Given the description of an element on the screen output the (x, y) to click on. 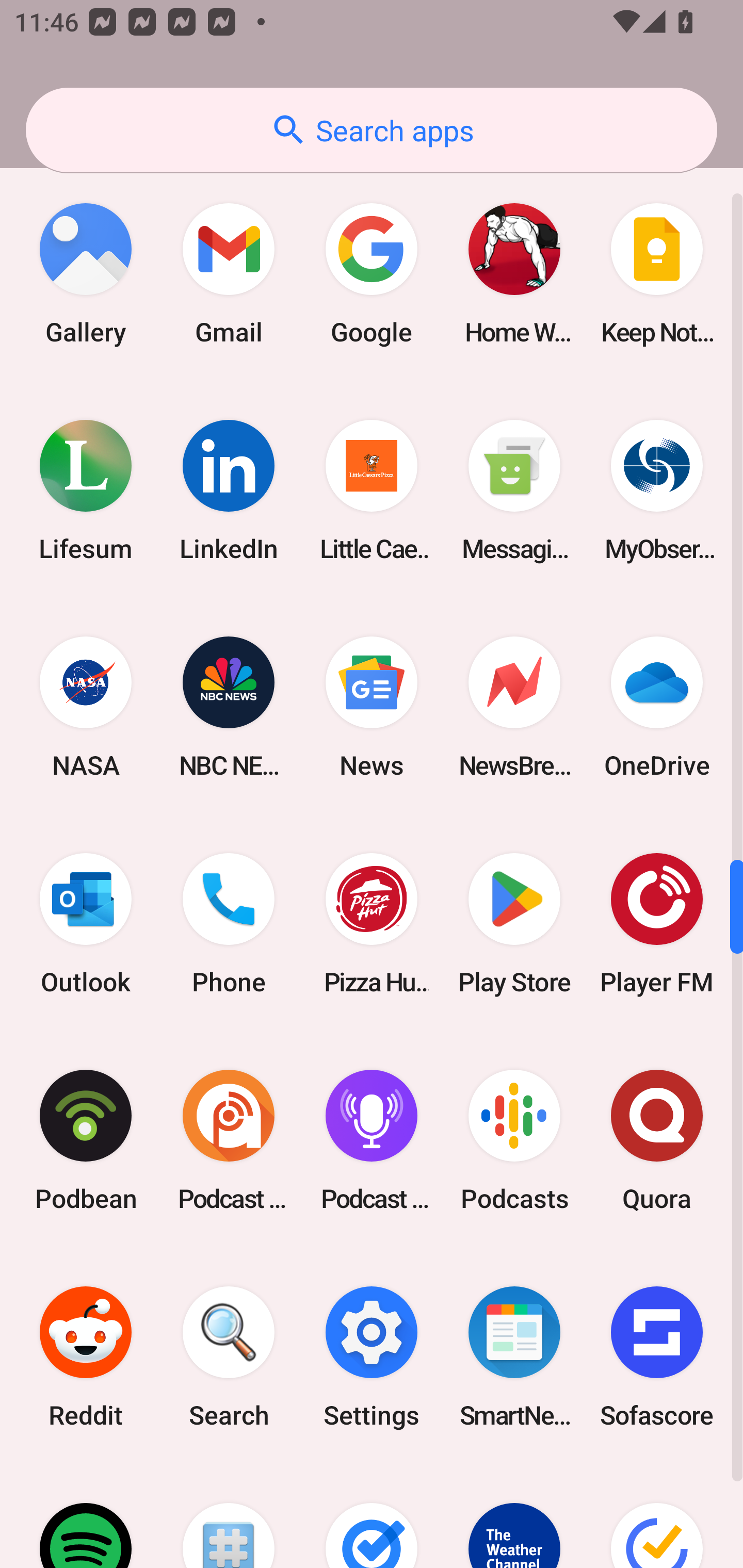
  Search apps (371, 130)
Gallery (85, 274)
Gmail (228, 274)
Google (371, 274)
Home Workout (514, 274)
Keep Notes (656, 274)
Lifesum (85, 490)
LinkedIn (228, 490)
Little Caesars Pizza (371, 490)
Messaging (514, 490)
MyObservatory (656, 490)
NASA (85, 706)
NBC NEWS (228, 706)
News (371, 706)
NewsBreak (514, 706)
OneDrive (656, 706)
Outlook (85, 923)
Phone (228, 923)
Pizza Hut HK & Macau (371, 923)
Play Store (514, 923)
Player FM (656, 923)
Podbean (85, 1139)
Podcast Addict (228, 1139)
Podcast Player (371, 1139)
Podcasts (514, 1139)
Quora (656, 1139)
Reddit (85, 1357)
Search (228, 1357)
Settings (371, 1357)
SmartNews (514, 1357)
Sofascore (656, 1357)
Spotify (85, 1517)
Superuser (228, 1517)
Tasks (371, 1517)
The Weather Channel (514, 1517)
TickTick (656, 1517)
